Given the description of an element on the screen output the (x, y) to click on. 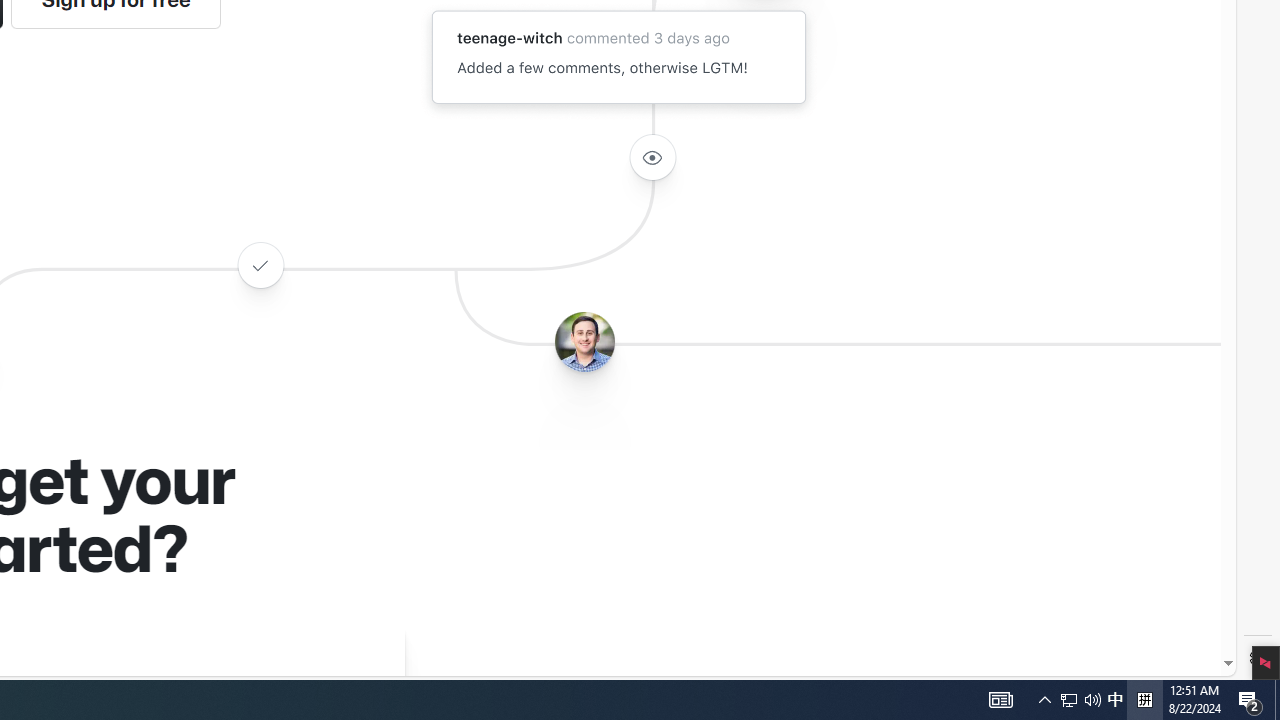
Class: color-fg-muted width-full (260, 264)
Avatar of the user benbalter (584, 341)
